Given the description of an element on the screen output the (x, y) to click on. 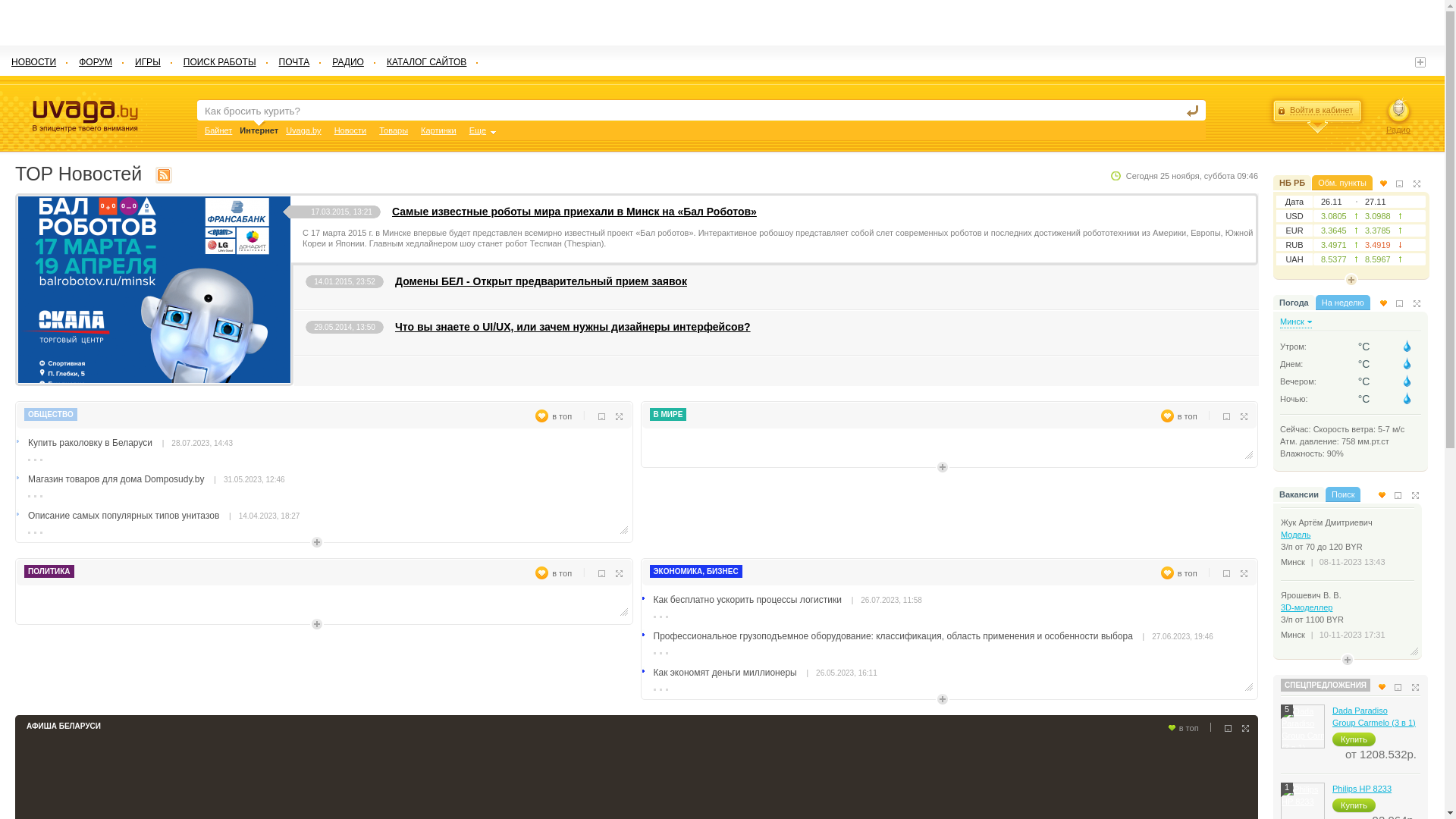
  Element type: hover (1406, 398)
  Element type: hover (1406, 363)
  Element type: hover (1406, 345)
  Element type: hover (1406, 380)
Uvaga.by Element type: text (303, 130)
5 Element type: text (1302, 726)
Philips HP 8233 Element type: text (1361, 788)
